Given the description of an element on the screen output the (x, y) to click on. 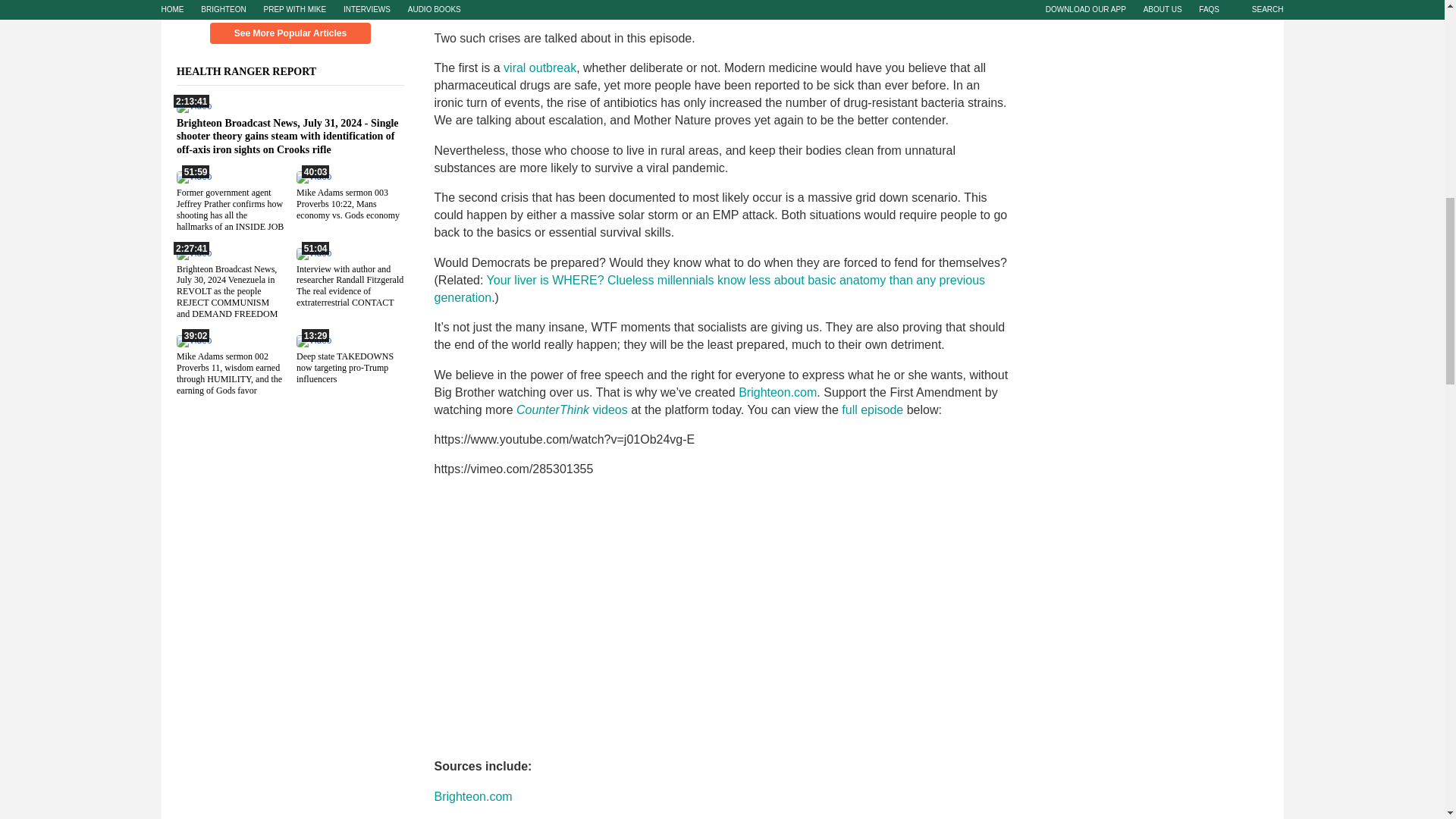
47:21 (312, 176)
2:27:41 (312, 362)
2:13:41 (193, 275)
2:32:05 (193, 105)
53:43 (193, 176)
HEALTH RANGER REPORT (254, 71)
See More Popular Articles (289, 33)
40:03 (193, 362)
Scroll Down (290, 6)
